Given the description of an element on the screen output the (x, y) to click on. 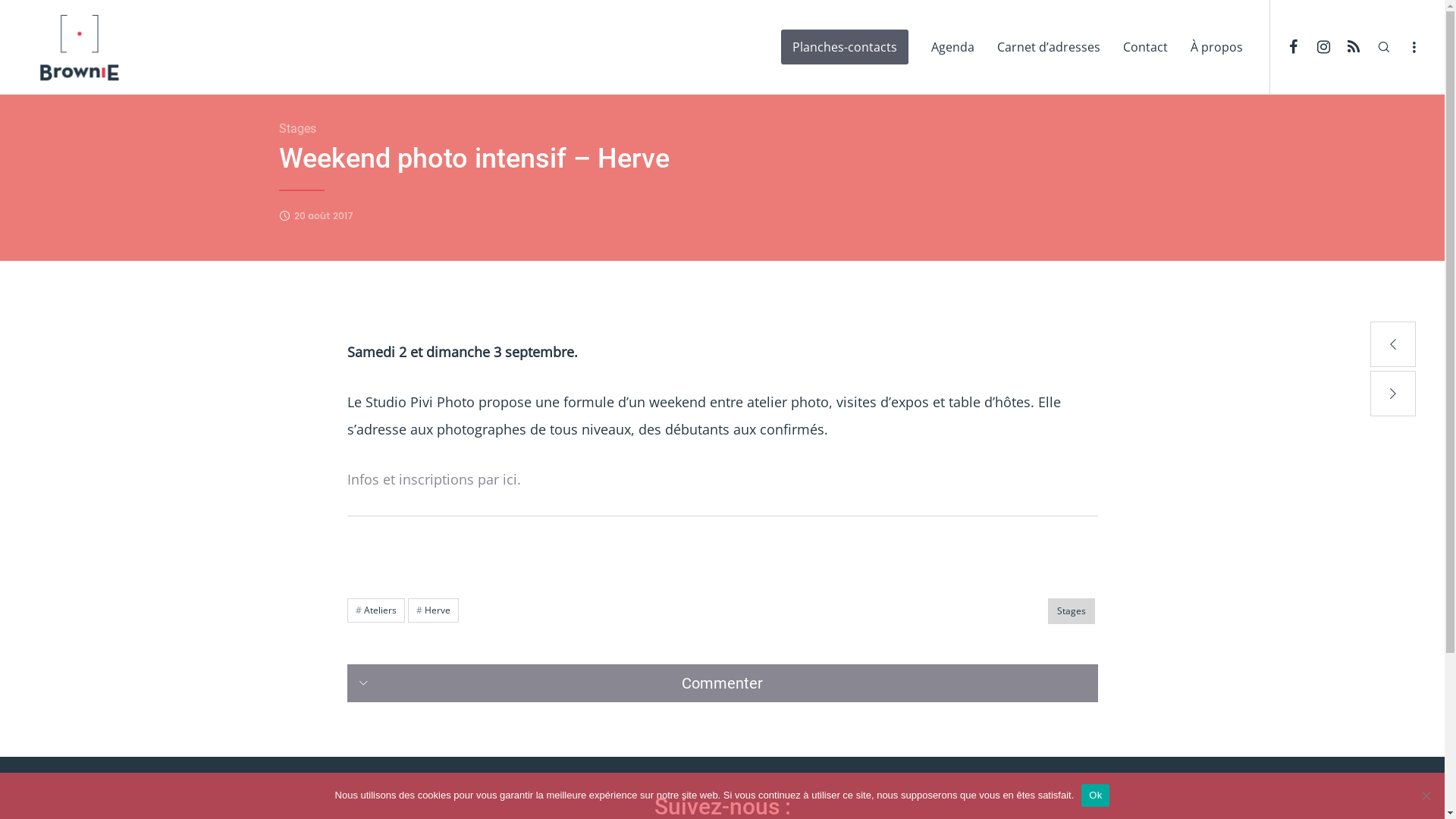
Stages Element type: text (297, 128)
Ateliers Element type: text (375, 610)
Stages Element type: text (1071, 611)
Contact Element type: text (1145, 47)
Non Element type: hover (1425, 795)
Ok Element type: text (1095, 795)
Infos et inscriptions par ici.  Element type: text (435, 479)
Planches-contacts Element type: text (844, 47)
Agenda Element type: text (952, 47)
Herve Element type: text (432, 610)
